Given the description of an element on the screen output the (x, y) to click on. 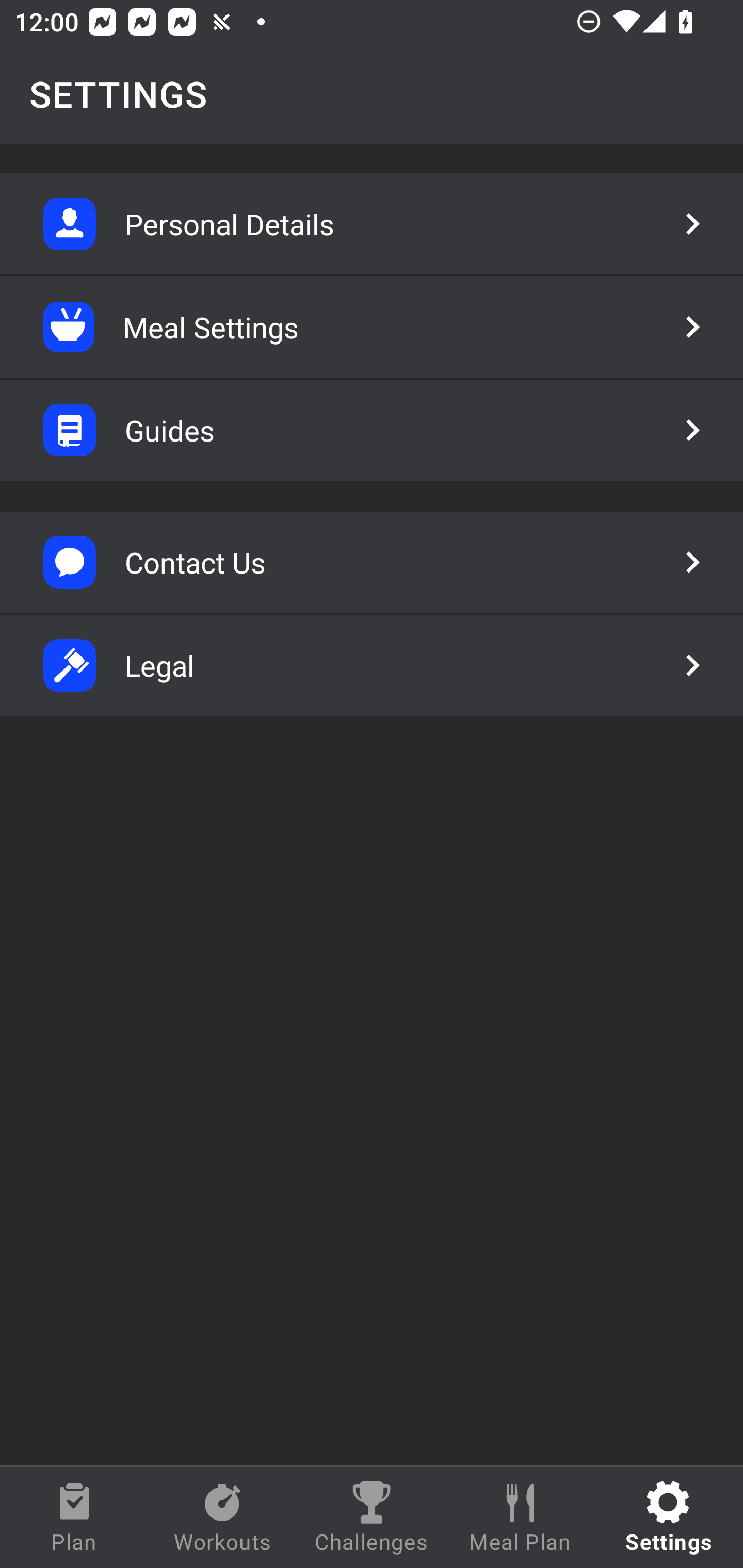
Personal Details (371, 224)
Meal Settings (371, 326)
Guides (371, 430)
Contact Us (371, 562)
Legal (371, 665)
 Plan  (74, 1517)
 Workouts  (222, 1517)
 Challenges  (371, 1517)
 Meal Plan  (519, 1517)
